Given the description of an element on the screen output the (x, y) to click on. 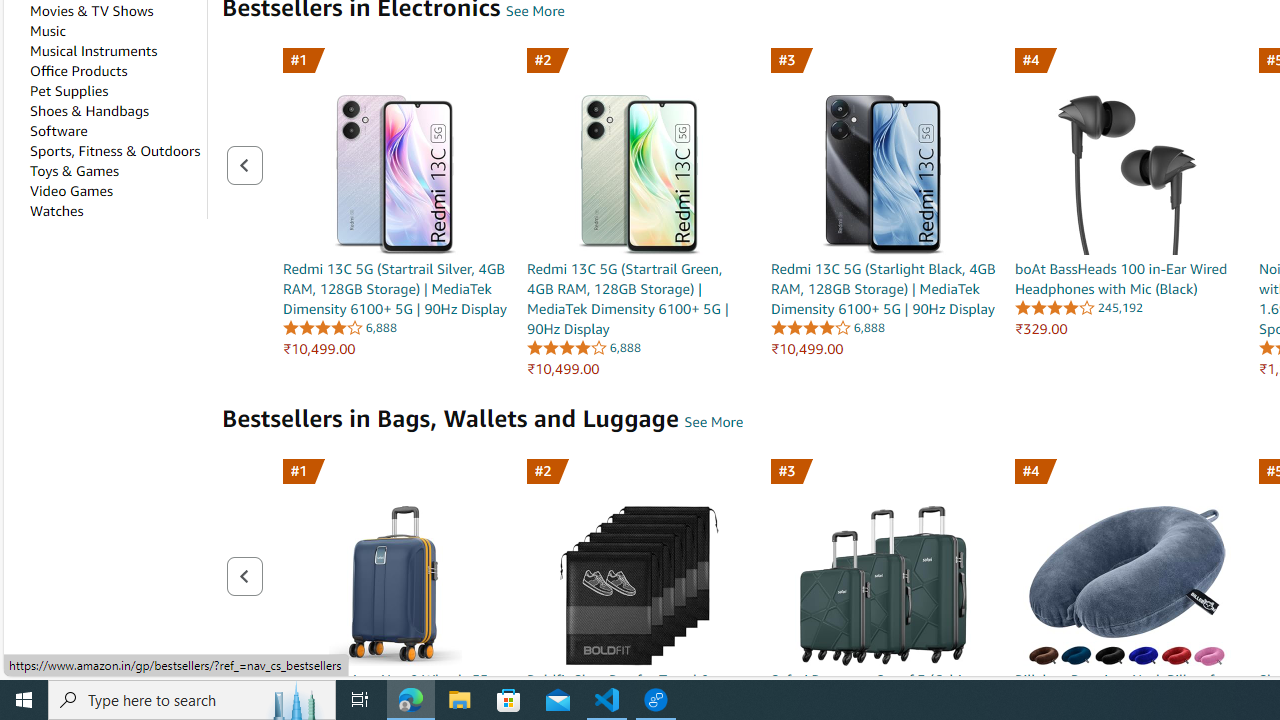
boAt BassHeads 100 in-Ear Wired Headphones with Mic (Black) (1127, 174)
Video Games (71, 191)
Shoes & Handbags (89, 111)
boAt BassHeads 100 in-Ear Wired Headphones with Mic (Black) (1127, 151)
Pet Supplies (68, 91)
Bestsellers in Electronics - See More (534, 11)
Toys & Games (74, 171)
